Given the description of an element on the screen output the (x, y) to click on. 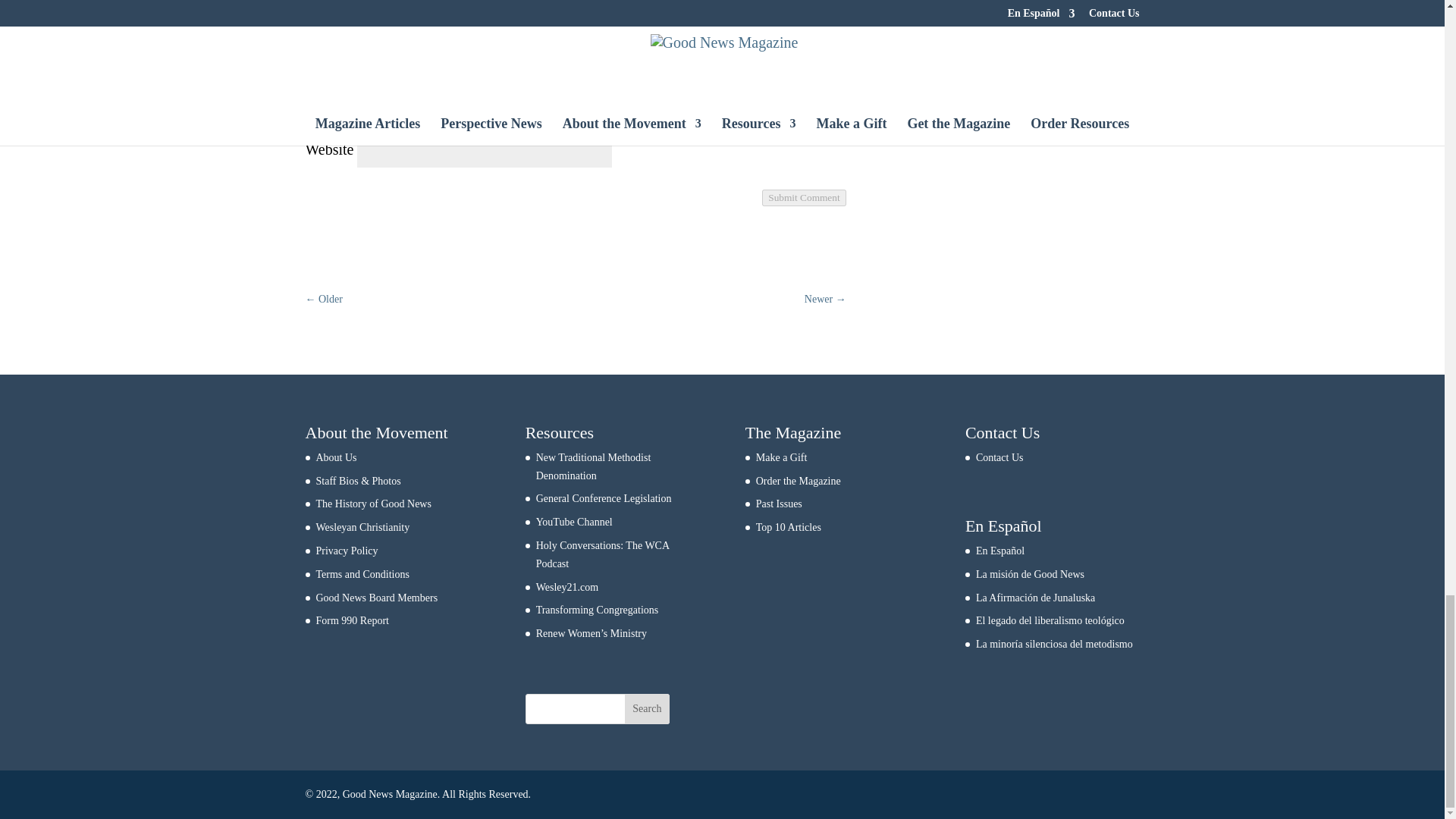
Posts by Steve (927, 16)
Search (646, 708)
Submit Comment (803, 197)
